Given the description of an element on the screen output the (x, y) to click on. 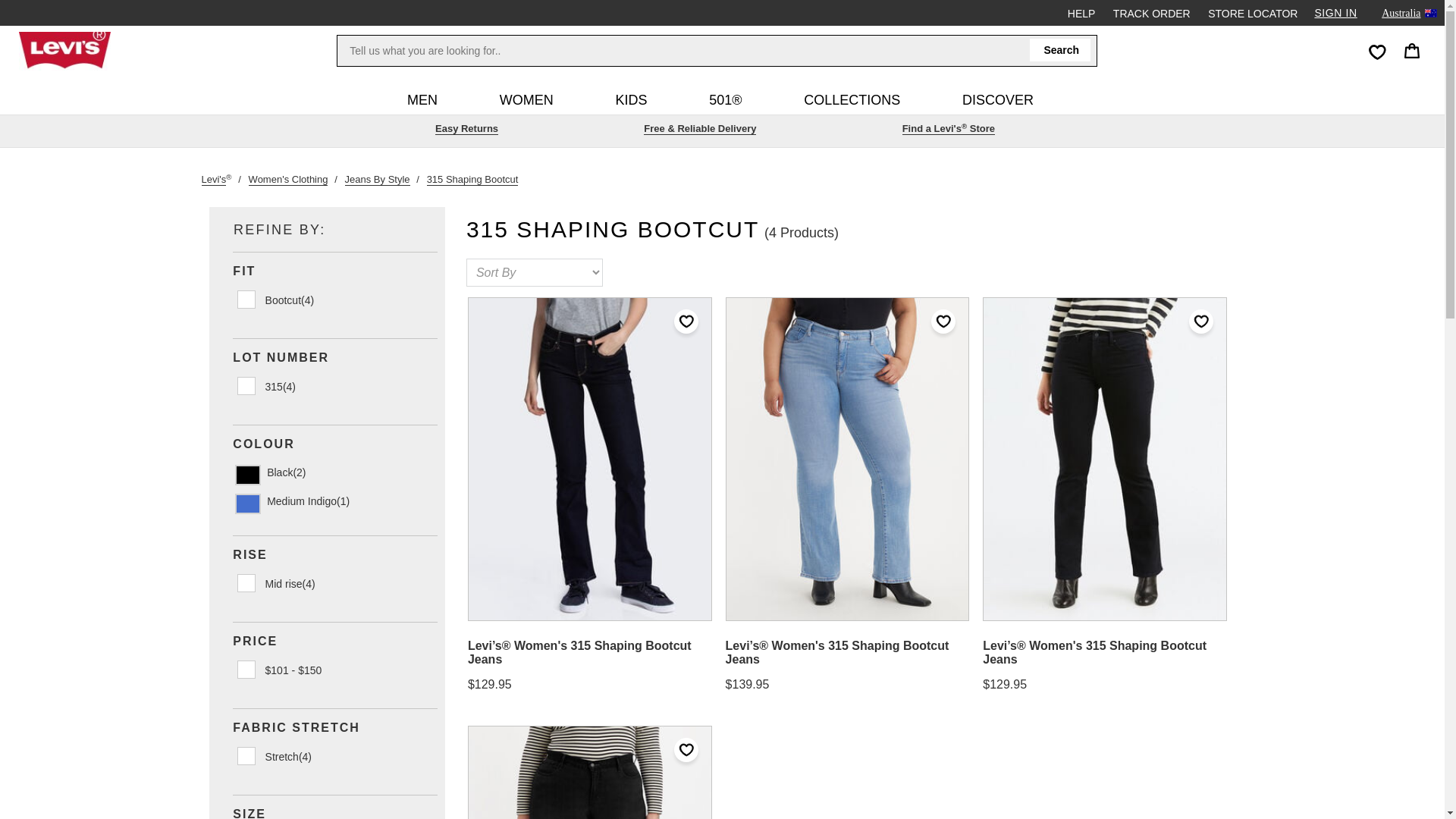
Help (1080, 12)
SIGN IN (1334, 13)
TRACK ORDER (1150, 12)
Sign In (1334, 13)
STORE LOCATOR (1252, 12)
WISH LIST (1374, 49)
HELP (1080, 12)
Track Order (1059, 49)
Store Locator (1150, 12)
